Given the description of an element on the screen output the (x, y) to click on. 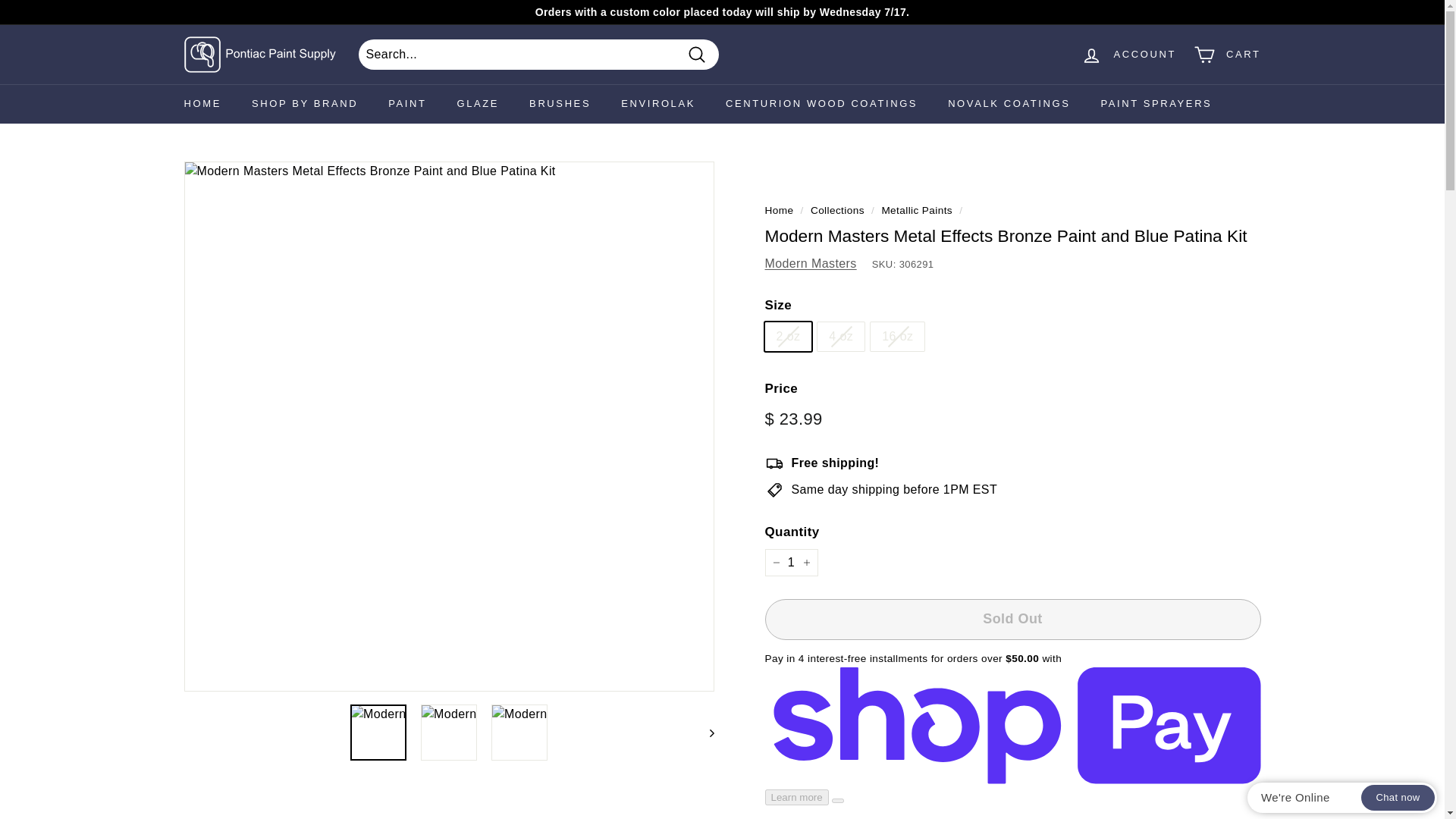
BRUSHES (559, 103)
GLAZE (477, 103)
PAINT (406, 103)
SHOP BY BRAND (303, 103)
HOME (201, 103)
ACCOUNT (1128, 53)
Back to the frontpage (778, 210)
1 (790, 562)
